Given the description of an element on the screen output the (x, y) to click on. 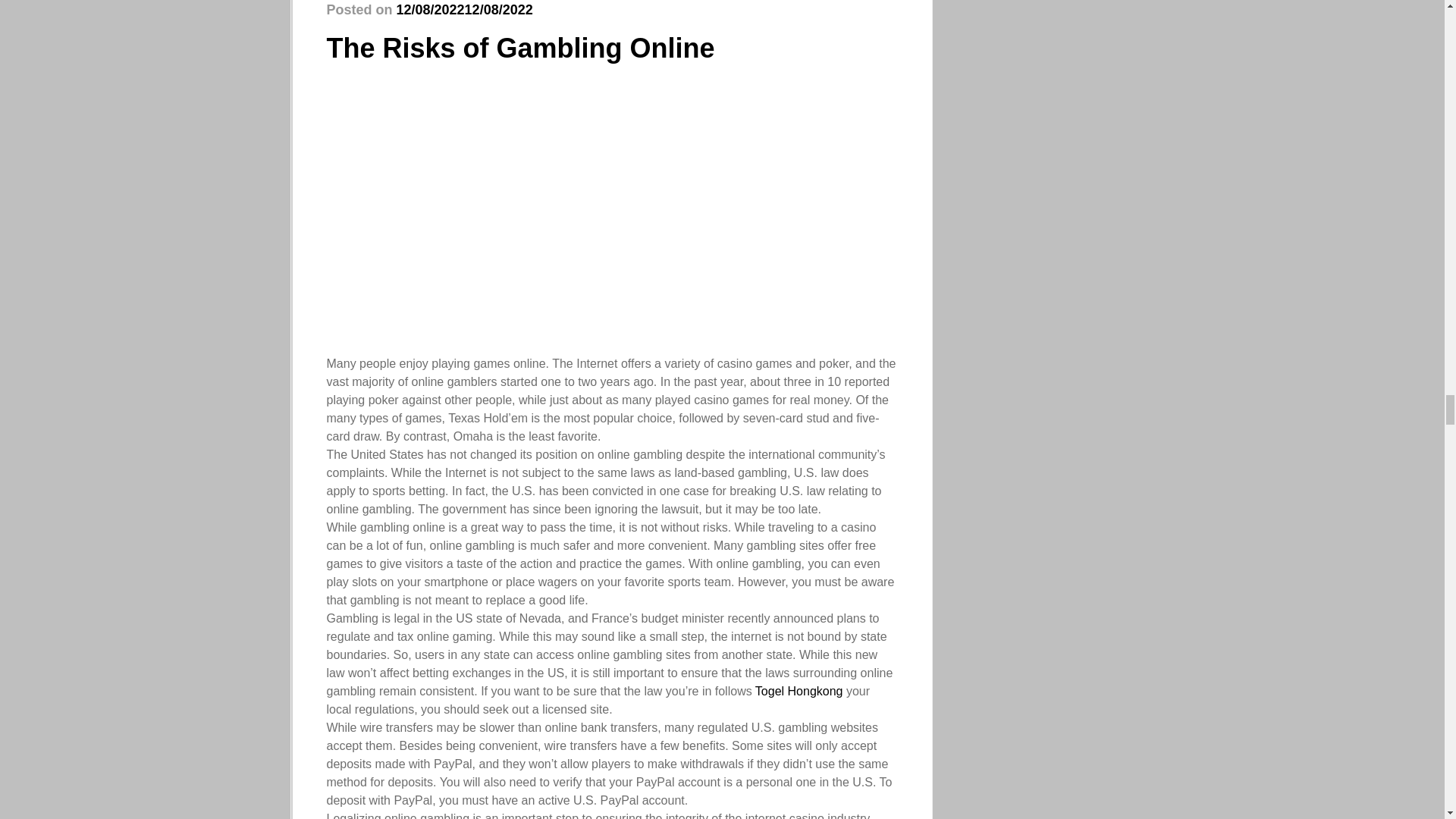
Togel Hongkong (799, 690)
The Risks of Gambling Online (520, 47)
